Given the description of an element on the screen output the (x, y) to click on. 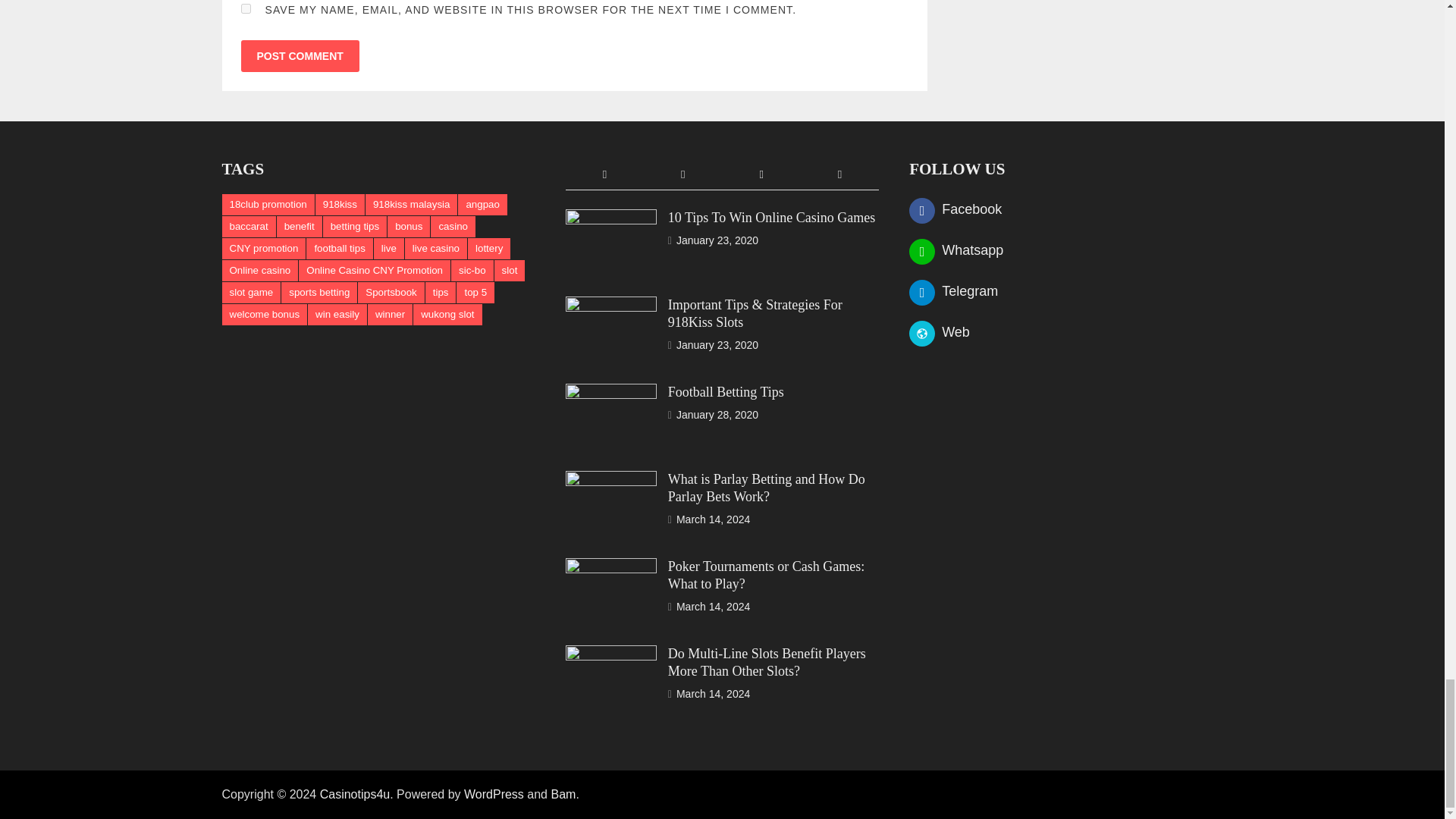
Poker Tournaments or Cash Games: What to Play? (611, 567)
Post Comment (300, 56)
What is Parlay Betting and How Do Parlay Bets Work? (611, 480)
Football Betting Tips (611, 393)
Casinotips4u (355, 793)
Do Multi-Line Slots Benefit Players More Than Other Slots? (611, 654)
10 Tips To Win Online Casino Games (611, 218)
Post Comment (300, 56)
yes (245, 8)
